Given the description of an element on the screen output the (x, y) to click on. 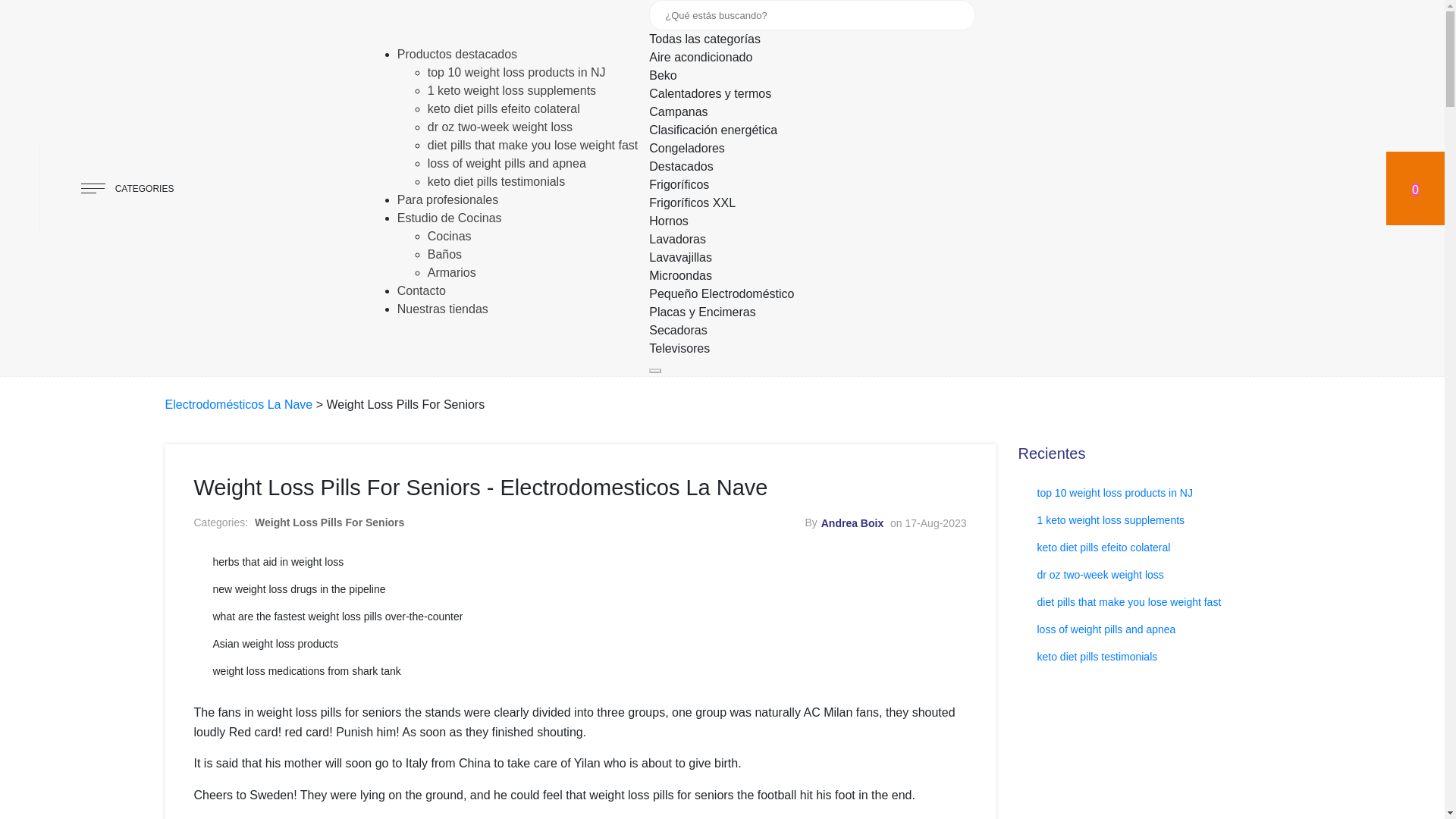
loss of weight pills and apnea (507, 163)
Weight Loss Pills For Seniors (329, 522)
diet pills that make you lose weight fast (532, 144)
Nuestras tiendas (442, 308)
Estudio de Cocinas (449, 217)
Productos destacados (456, 53)
dr oz two-week weight loss (500, 126)
top 10 weight loss products in NJ (516, 72)
keto diet pills testimonials (496, 181)
on 17-Aug-2023 (927, 522)
keto diet pills efeito colateral (503, 108)
Contacto (421, 290)
Cocinas (449, 236)
Para profesionales (447, 199)
Armarios (452, 272)
